Given the description of an element on the screen output the (x, y) to click on. 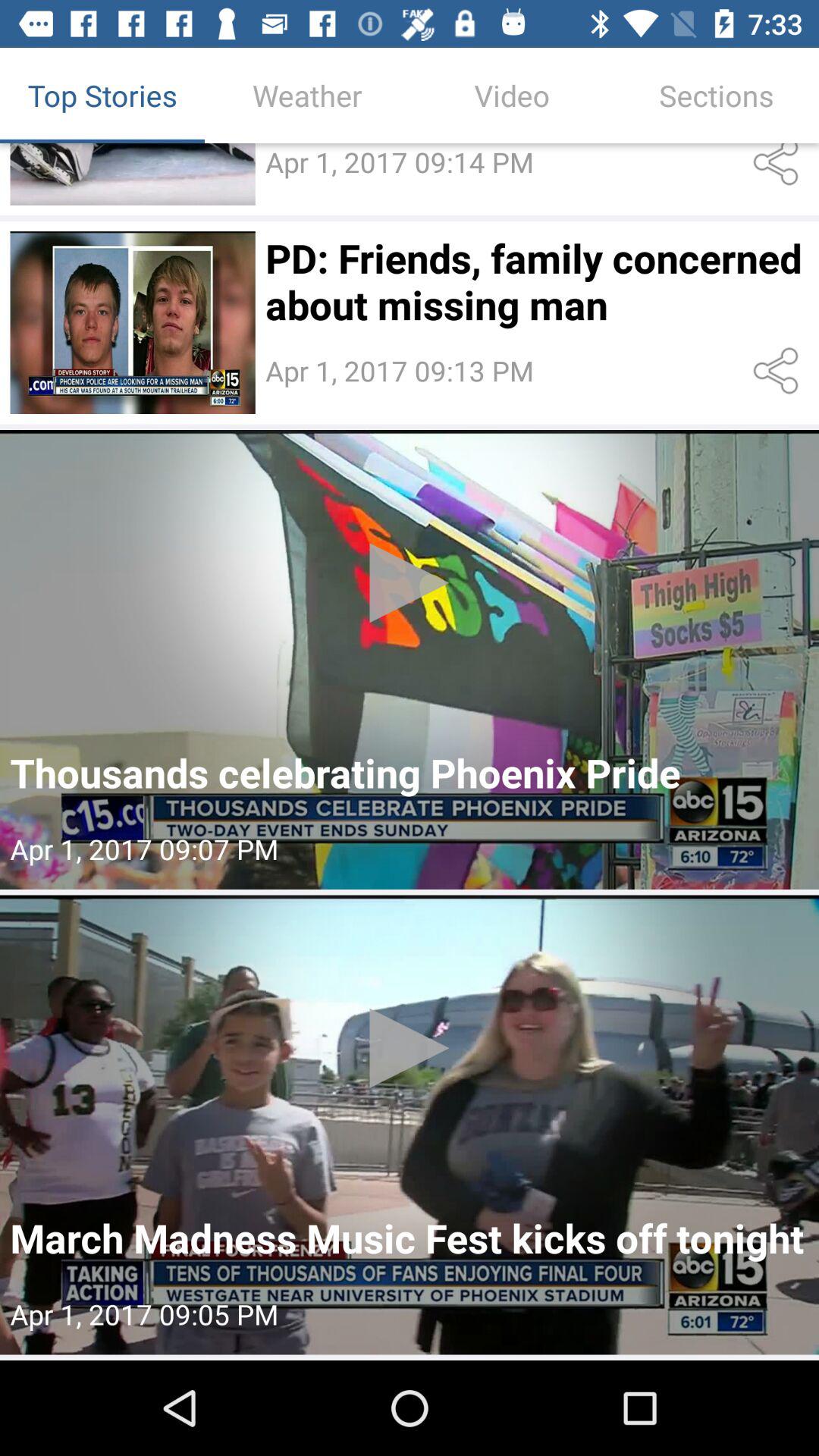
be redirected to an article about a man missing (132, 322)
